Given the description of an element on the screen output the (x, y) to click on. 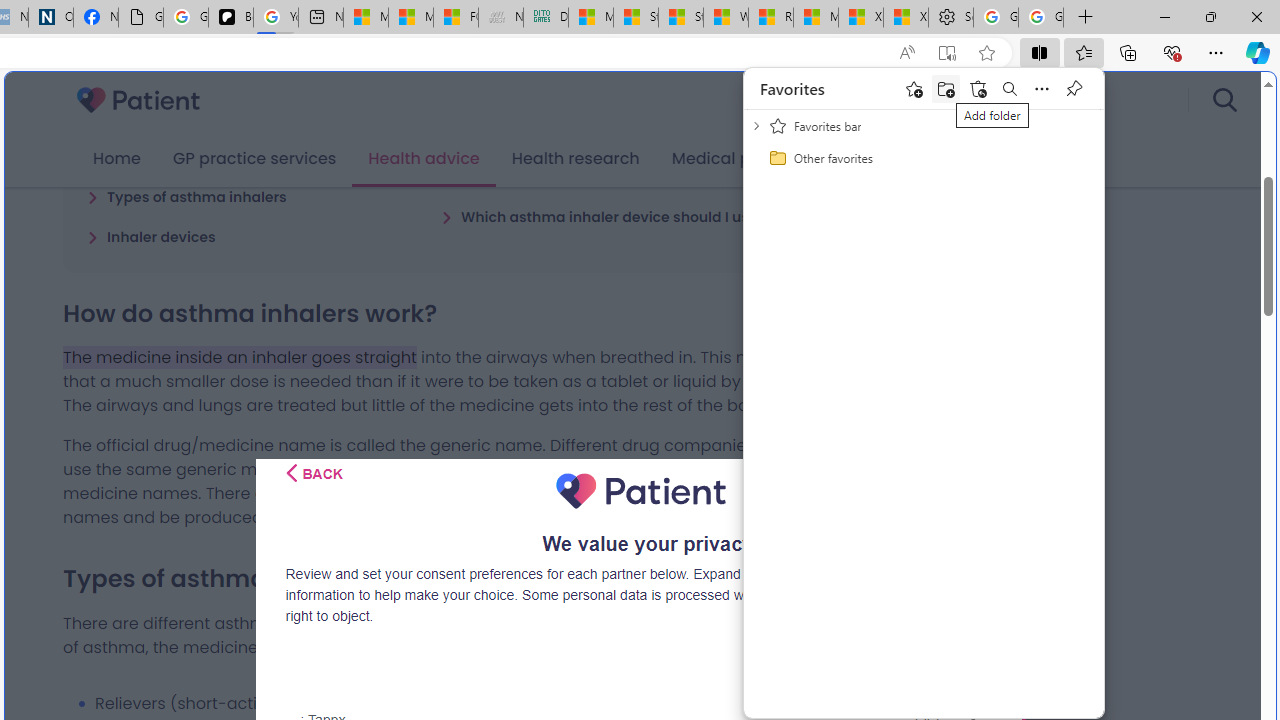
Health advice (424, 159)
GP practice services (254, 159)
